Given the description of an element on the screen output the (x, y) to click on. 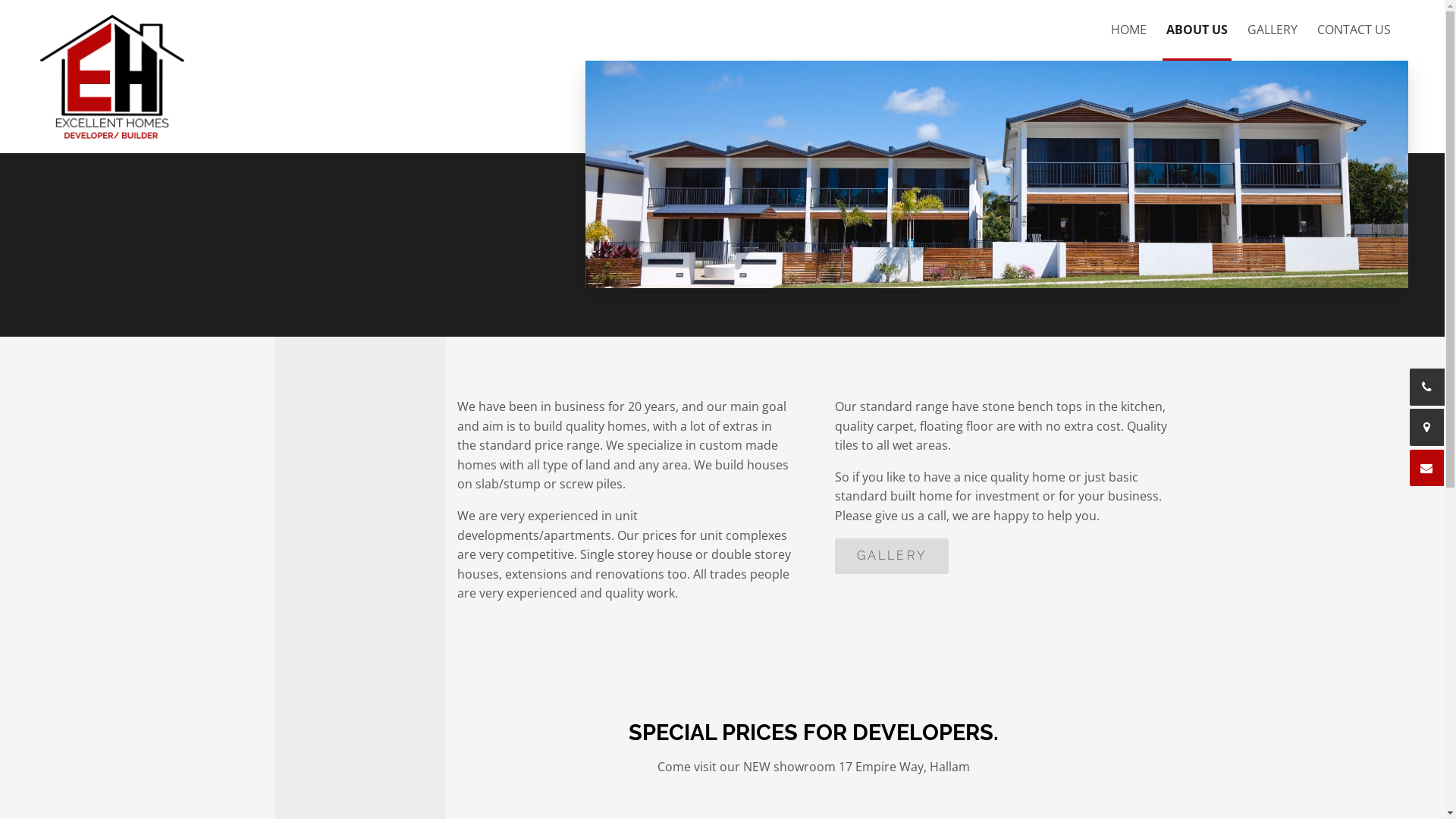
CONTACT US Element type: text (1353, 30)
HOME Element type: text (1128, 30)
GALLERY Element type: text (891, 556)
ABOUT US Element type: text (1196, 30)
GALLERY Element type: text (1272, 30)
